Given the description of an element on the screen output the (x, y) to click on. 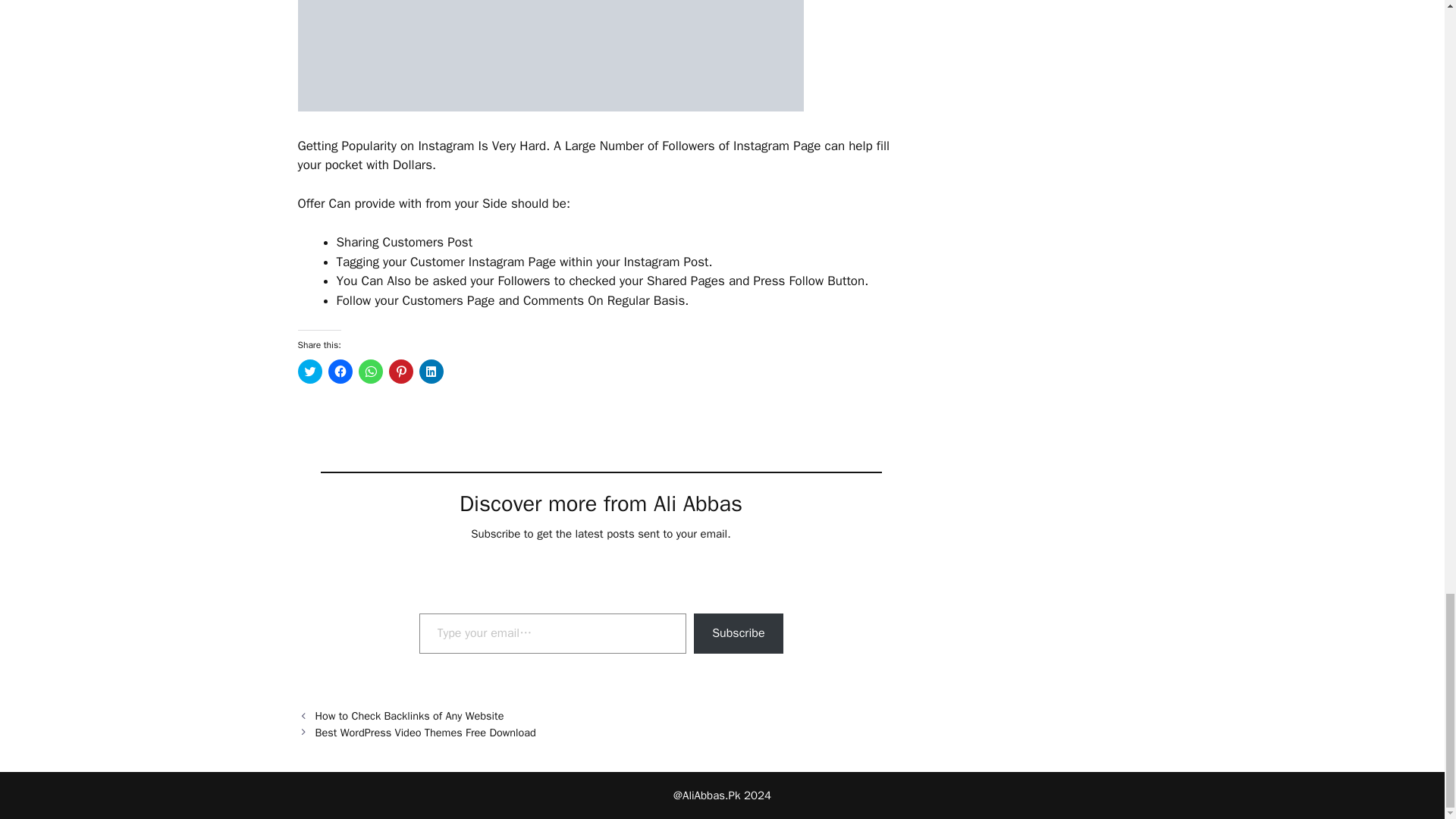
Best WordPress Video Themes Free Download (425, 732)
How to Make Money on Instagram - Complete Details 2 (550, 55)
Click to share on Pinterest (400, 371)
Please fill in this field. (552, 633)
How to Check Backlinks of Any Website (409, 715)
Click to share on WhatsApp (369, 371)
Click to share on Twitter (309, 371)
Click to share on Facebook (339, 371)
Subscribe (738, 633)
Click to share on LinkedIn (430, 371)
